Given the description of an element on the screen output the (x, y) to click on. 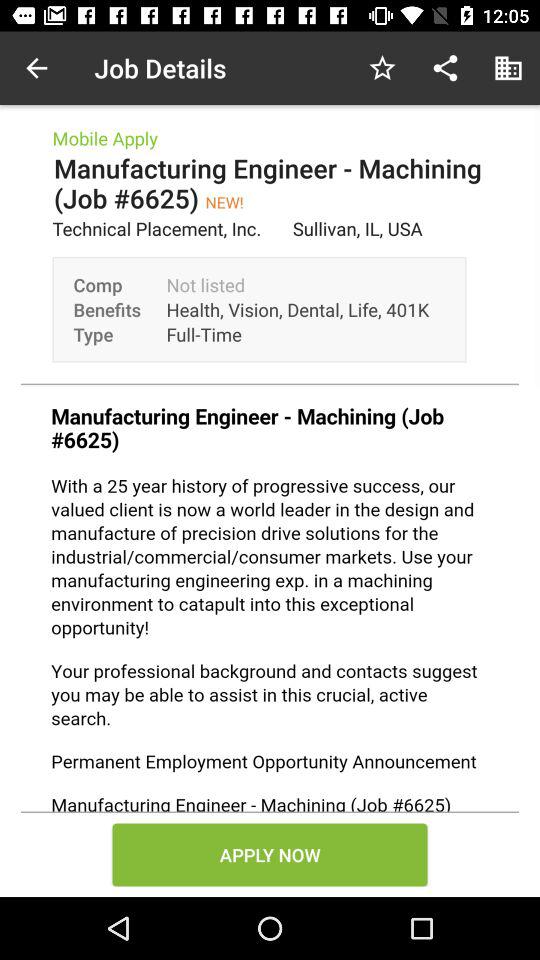
go to job details (270, 599)
